Given the description of an element on the screen output the (x, y) to click on. 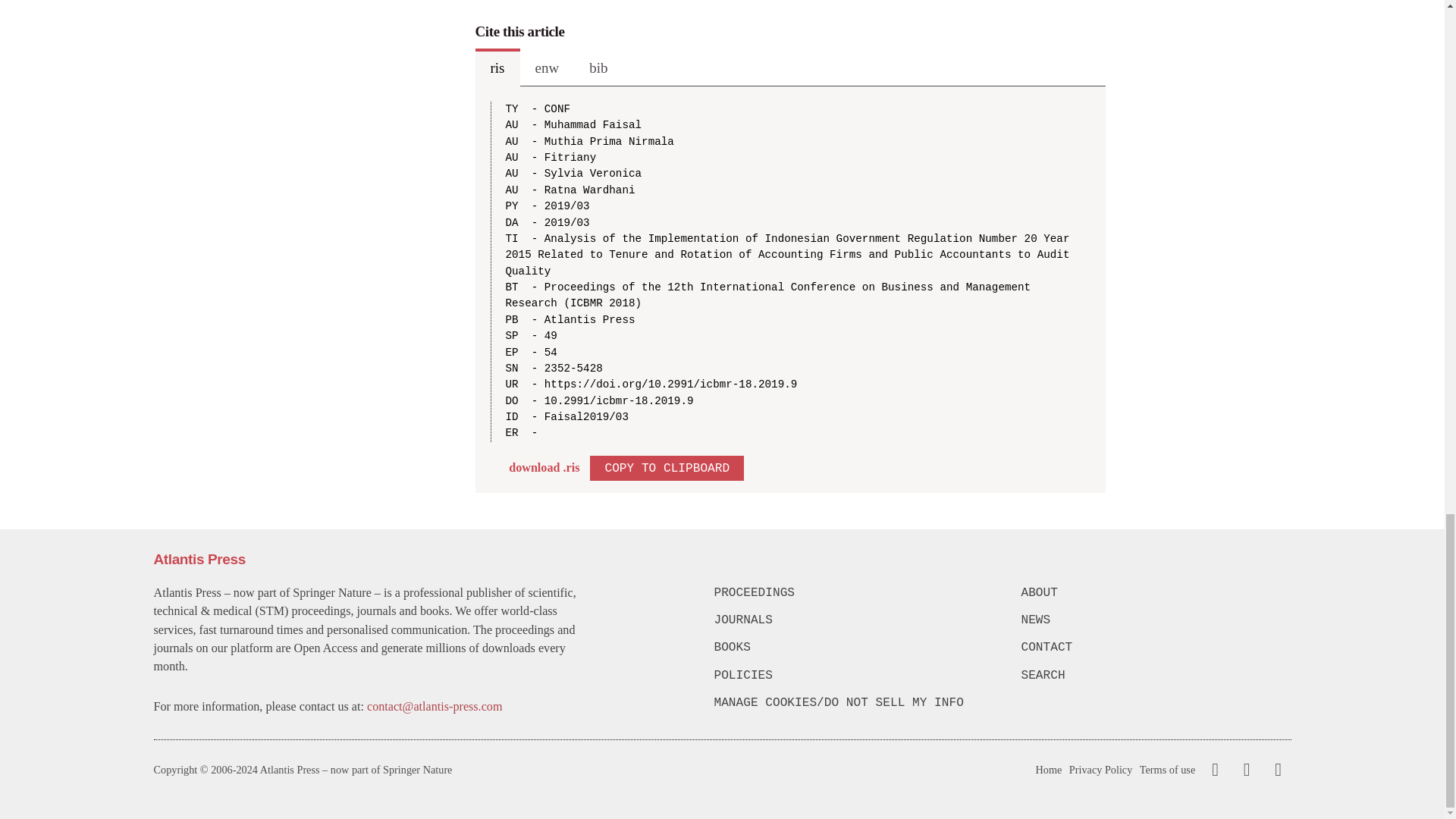
bib (598, 67)
LinkedIn (1275, 769)
COPY TO CLIPBOARD (666, 467)
enw (547, 67)
BOOKS (849, 647)
ABOUT (1155, 592)
Facebook (1215, 769)
JOURNALS (849, 620)
PROCEEDINGS (849, 592)
Atlantis Press (198, 559)
